Given the description of an element on the screen output the (x, y) to click on. 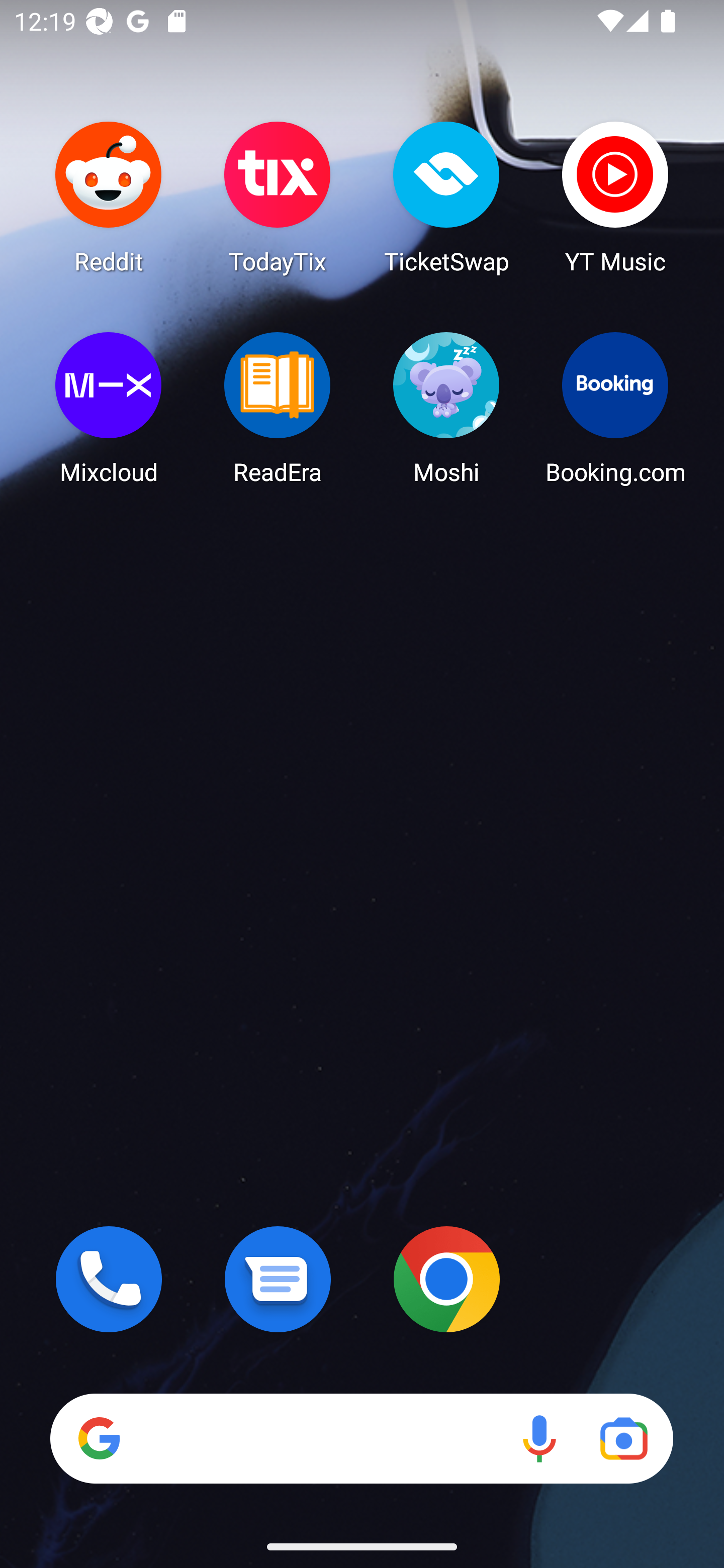
Reddit (108, 196)
TodayTix (277, 196)
TicketSwap (445, 196)
YT Music (615, 196)
Mixcloud (108, 407)
ReadEra (277, 407)
Moshi (445, 407)
Booking.com (615, 407)
Phone (108, 1279)
Messages (277, 1279)
Chrome (446, 1279)
Search Voice search Google Lens (361, 1438)
Voice search (539, 1438)
Google Lens (623, 1438)
